Given the description of an element on the screen output the (x, y) to click on. 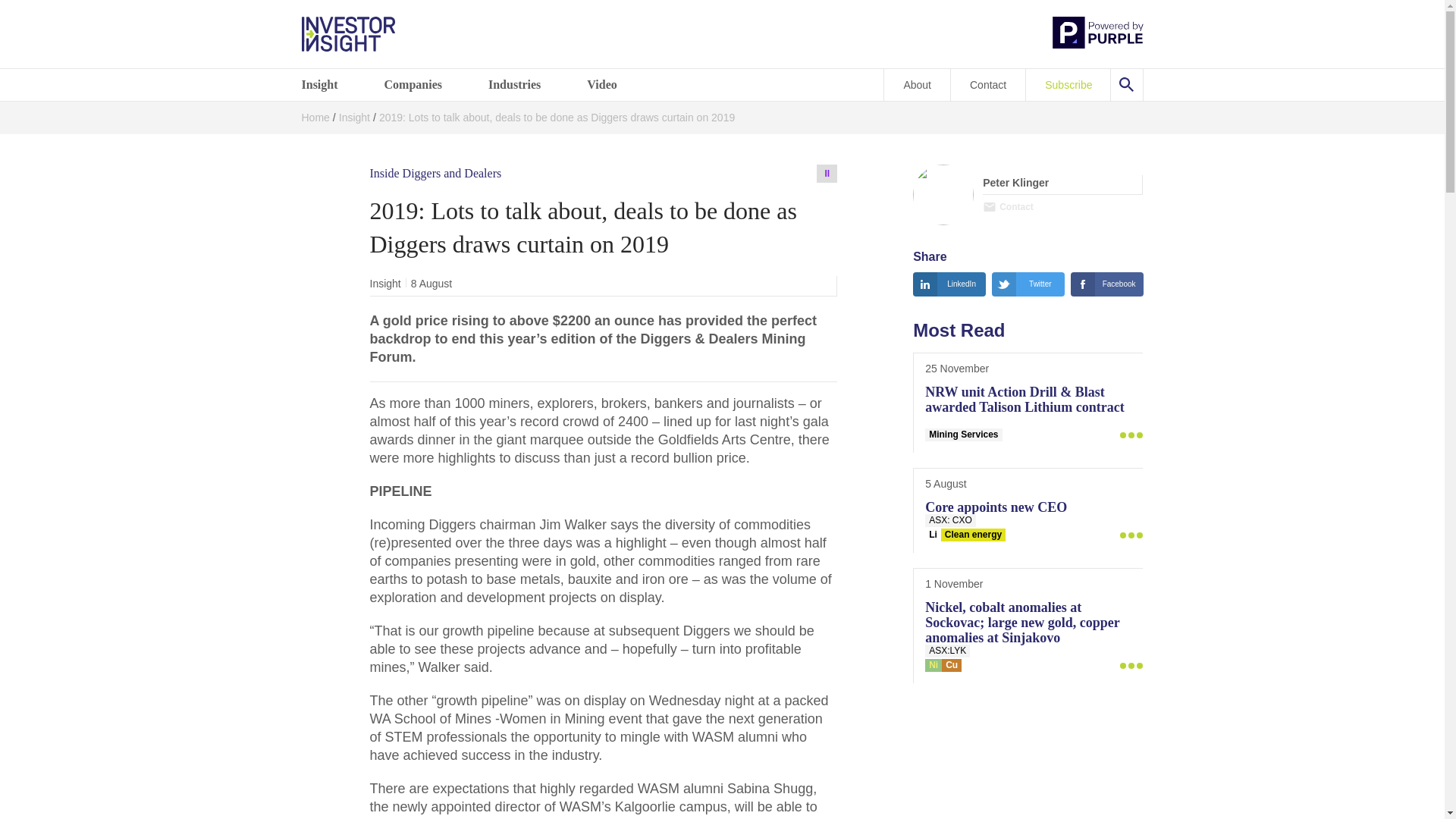
Insight (328, 84)
Companies (422, 84)
